Given the description of an element on the screen output the (x, y) to click on. 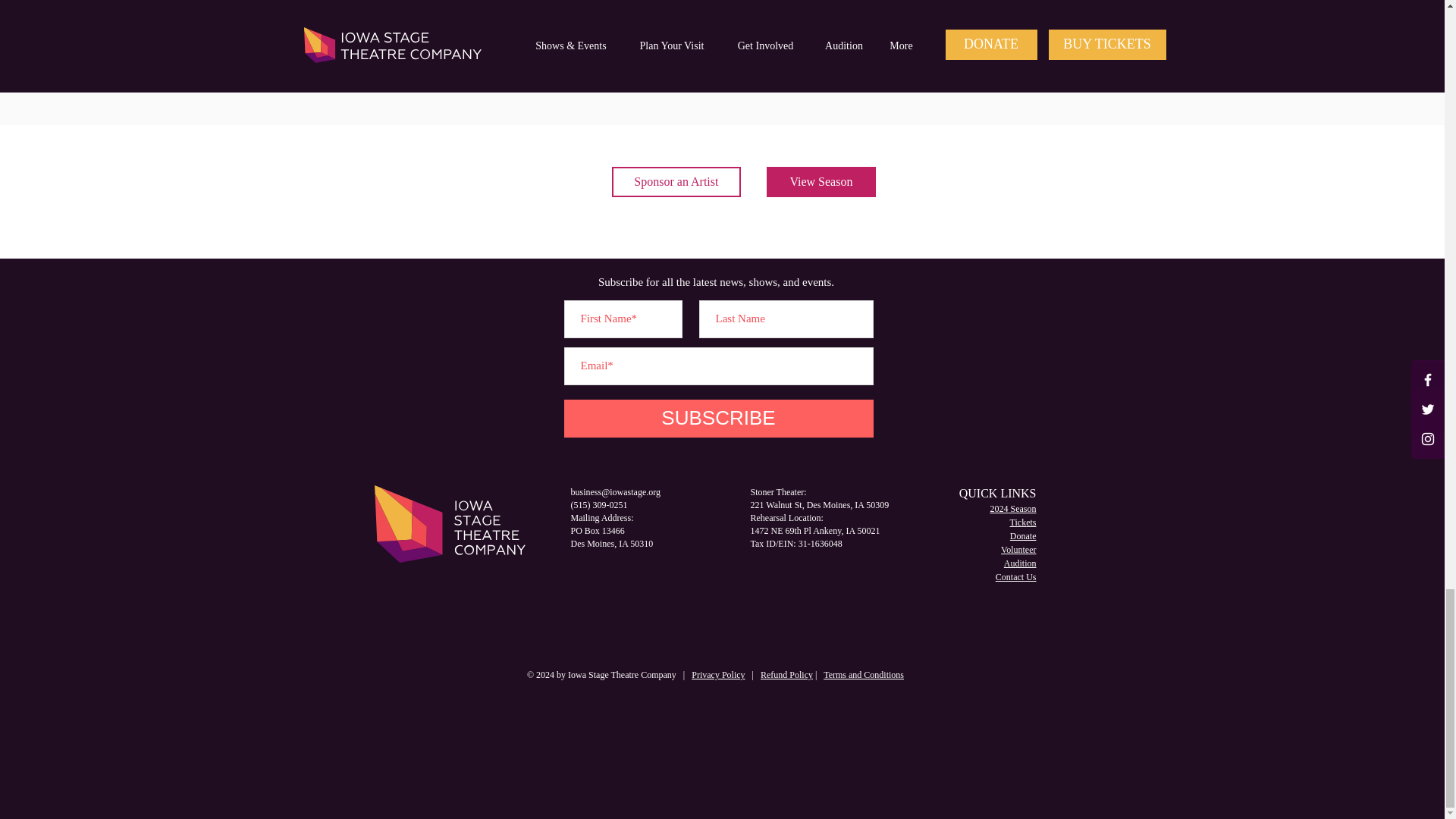
Donate (1023, 535)
Audition (1020, 562)
Sponsor an Artist (676, 182)
2024 Season (1013, 508)
Tickets (1023, 521)
SUBSCRIBE (718, 418)
Volunteer (1018, 549)
View Season (821, 182)
Contact Us (1015, 576)
